Given the description of an element on the screen output the (x, y) to click on. 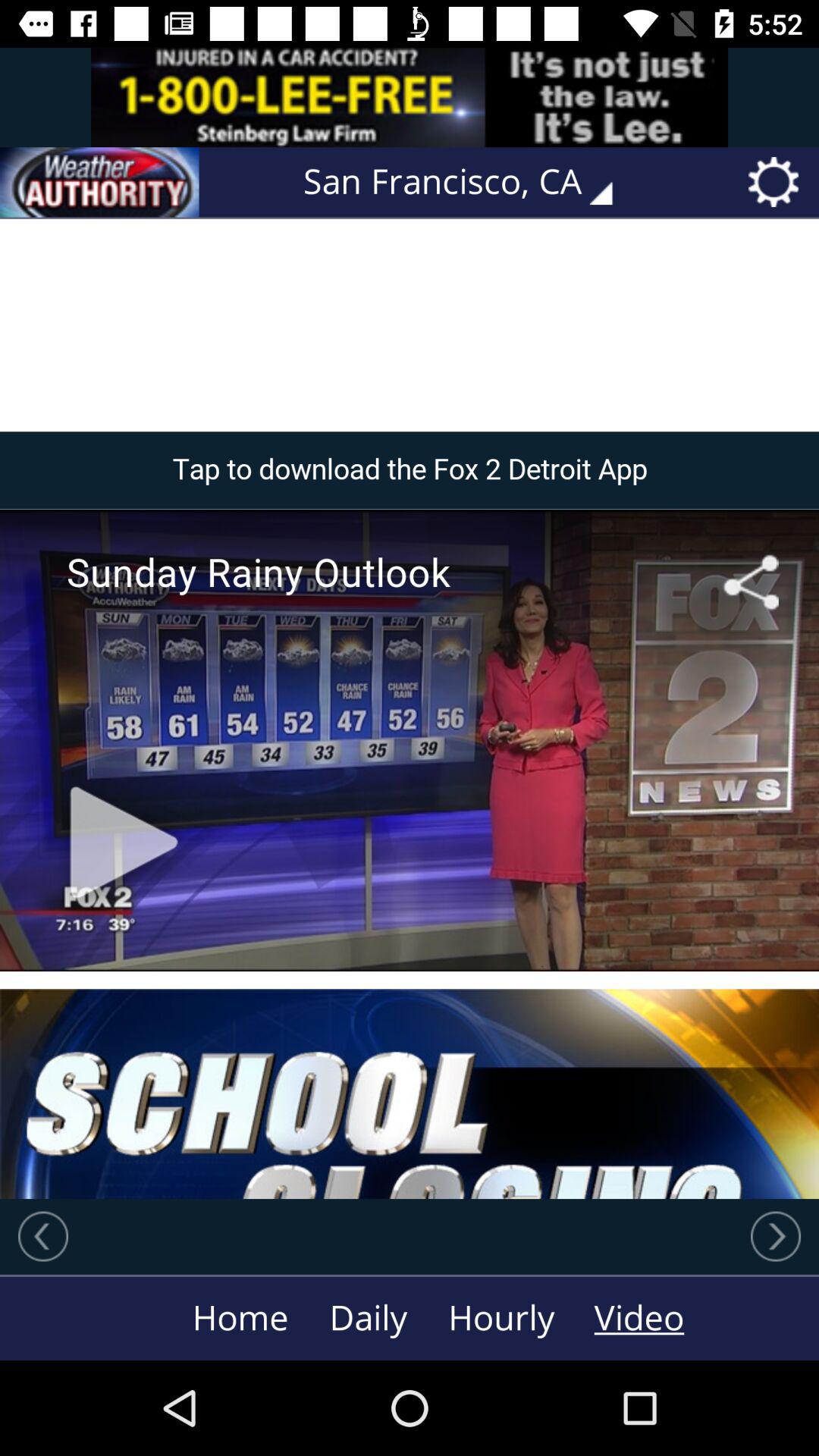
go to weather authority (99, 182)
